Given the description of an element on the screen output the (x, y) to click on. 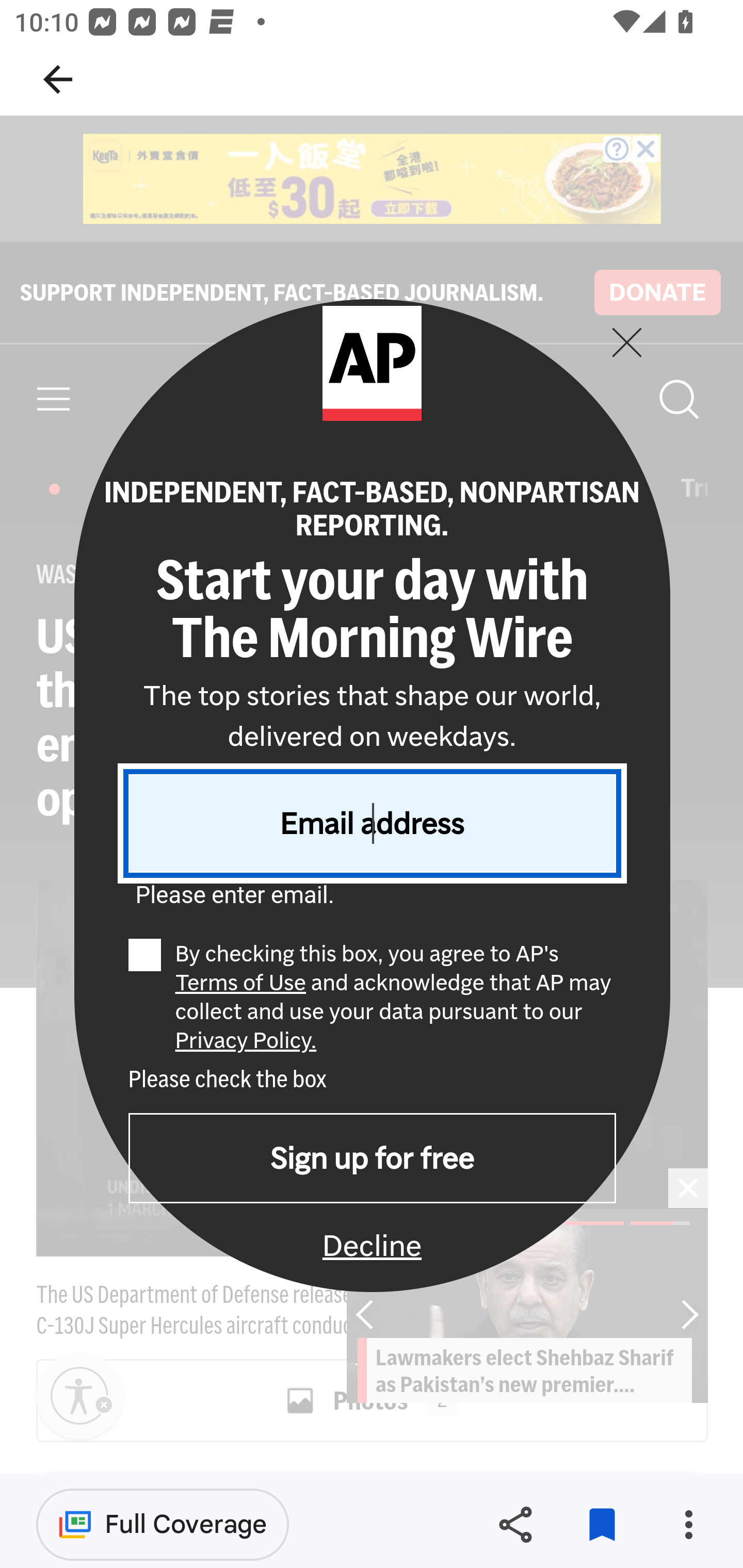
Navigate up (57, 79)
close email sign up dialog (626, 341)
Terms of Use (239, 982)
Privacy Policy. (245, 1040)
Sign up for free (371, 1157)
Decline; close the dialog (371, 1243)
Share (514, 1524)
Remove from saved stories (601, 1524)
More options (688, 1524)
Full Coverage (162, 1524)
